Given the description of an element on the screen output the (x, y) to click on. 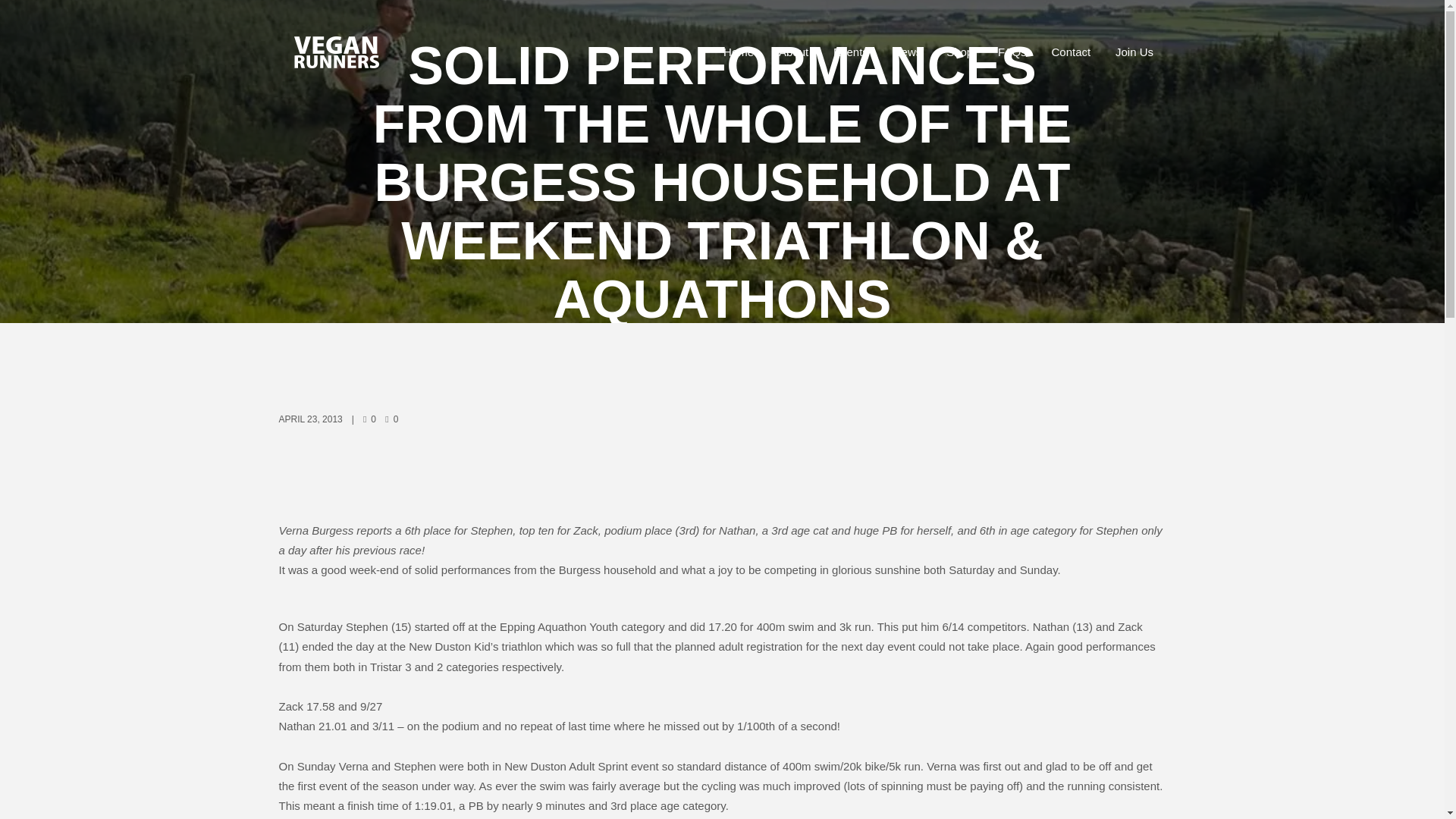
Events (850, 51)
Shop (959, 51)
Contact (1071, 51)
FAQs (1012, 51)
Home (739, 51)
Join Us (1134, 51)
News (906, 51)
About (793, 51)
